Given the description of an element on the screen output the (x, y) to click on. 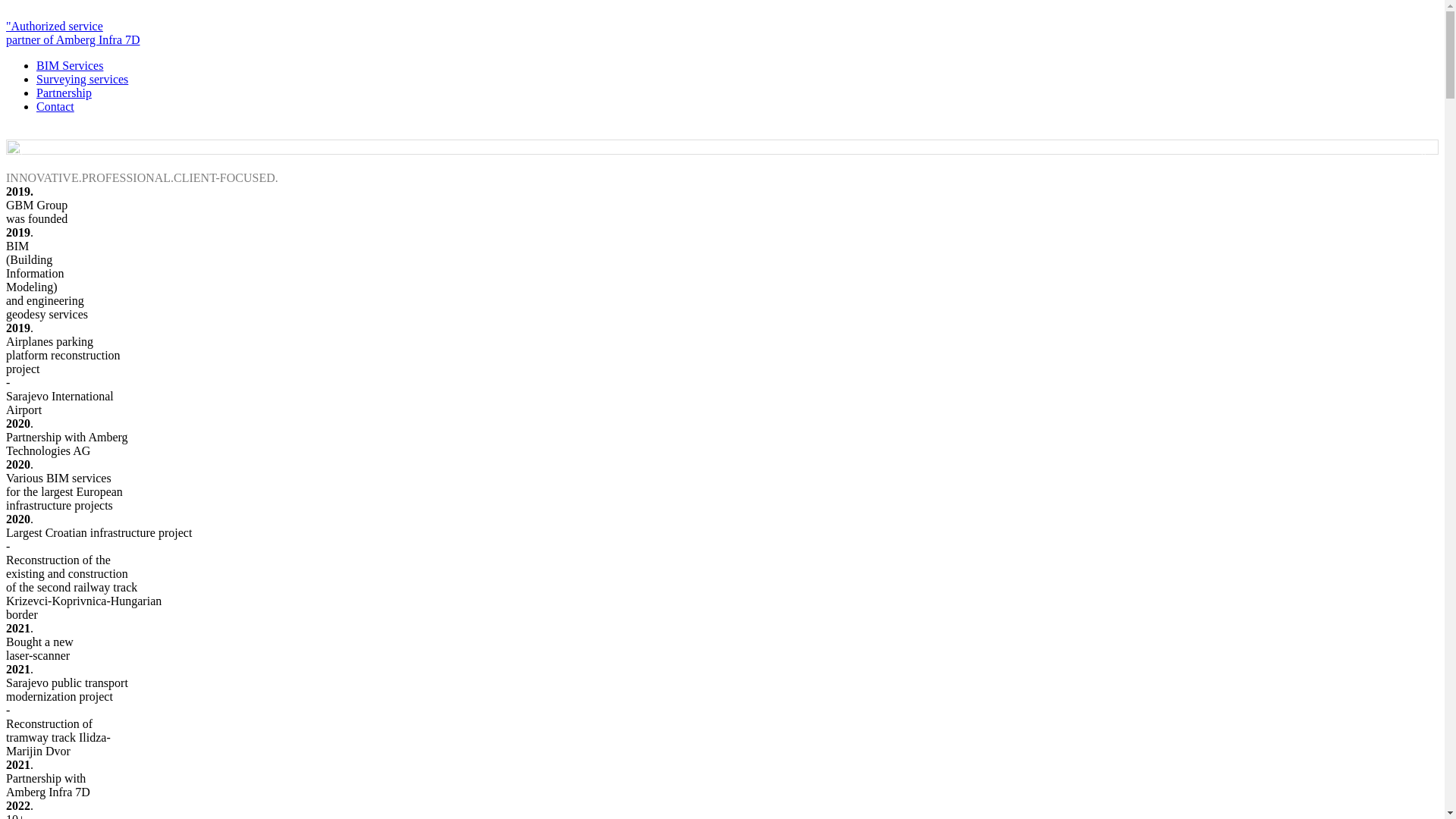
Partnership Element type: text (63, 92)
Contact Element type: text (55, 106)
Surveying services Element type: text (82, 78)
"Authorized service
partner of Amberg Infra 7D Element type: text (722, 39)
BIM Services Element type: text (69, 65)
